Given the description of an element on the screen output the (x, y) to click on. 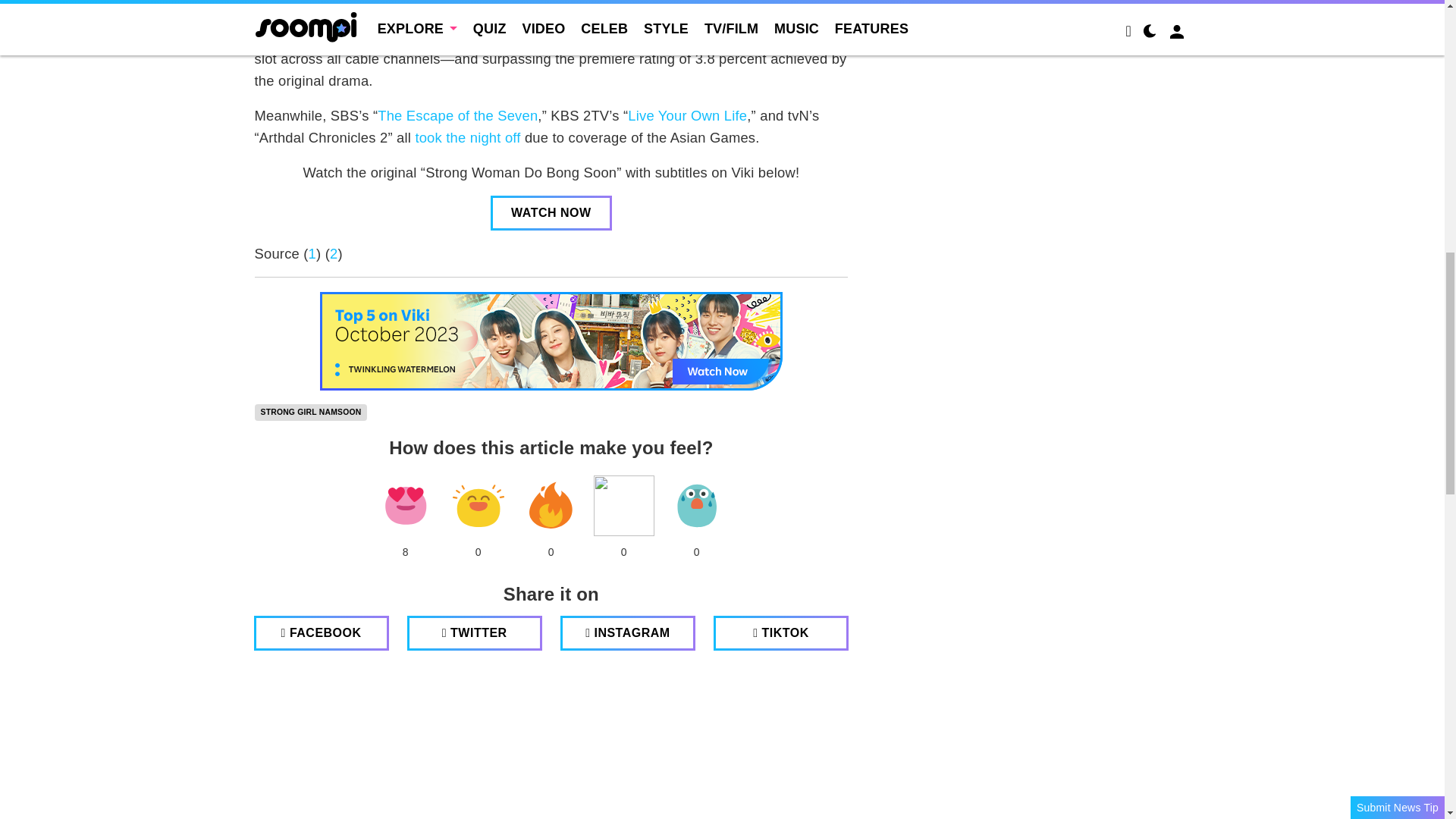
Crying (623, 505)
3rd party ad content (551, 746)
heart (405, 505)
Fire (550, 505)
Strong Girl Namsoon (311, 412)
WATCH NOW (550, 212)
OMG (696, 505)
The Escape of the Seven (457, 115)
took the night off (466, 137)
Live Your Own Life (686, 115)
